Given the description of an element on the screen output the (x, y) to click on. 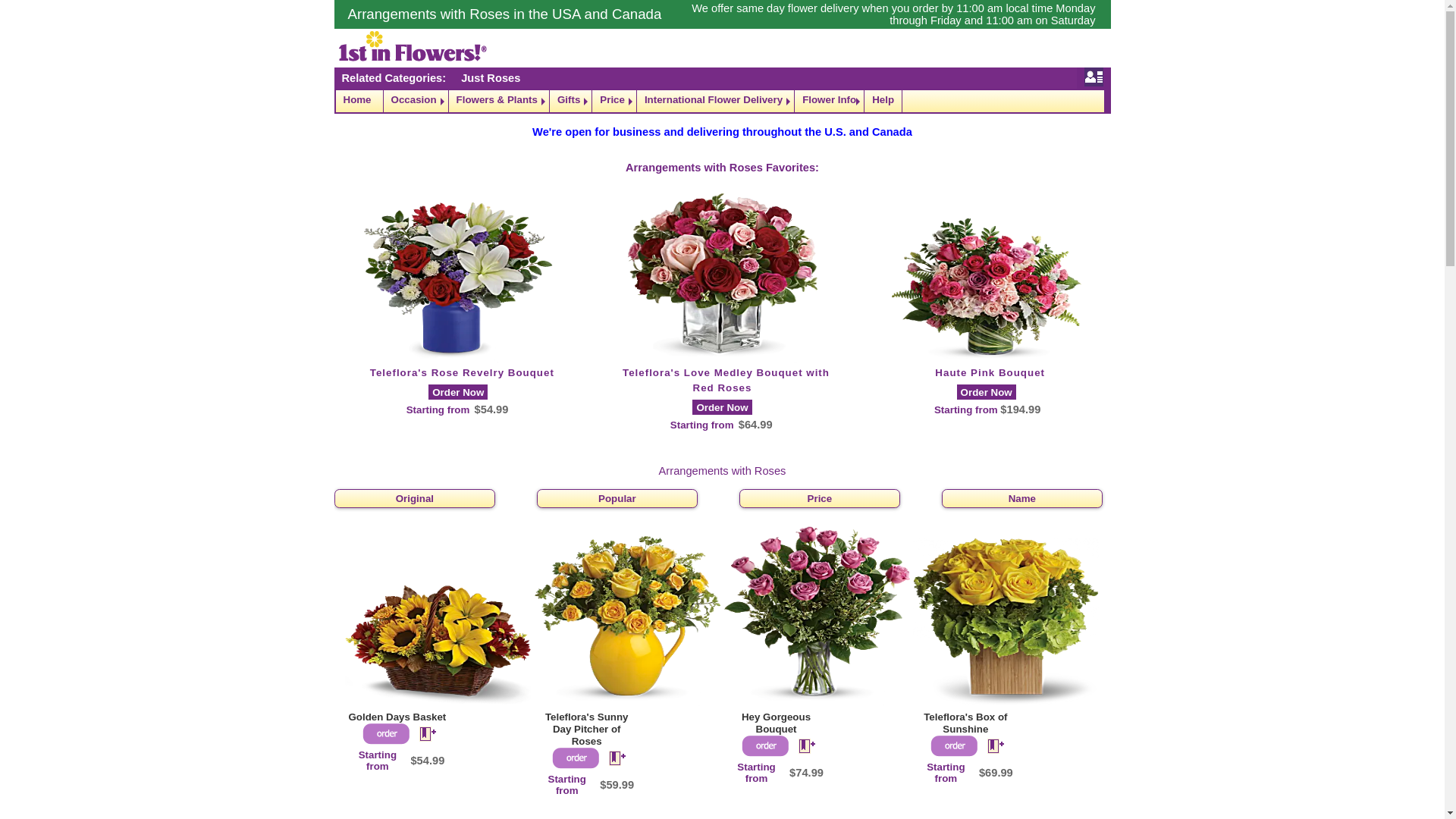
Occasion Element type: text (415, 101)
Price Element type: text (614, 101)
Original Element type: text (414, 498)
International Flower Delivery Element type: text (715, 101)
Teleflora's Box of Sunshine Element type: text (965, 722)
Just Roses Element type: text (490, 78)
Teleflora's Love Medley Bouquet with Red Roses Element type: text (725, 380)
Haute Pink Bouquet Element type: text (989, 372)
Hey Gorgeous Bouquet Element type: text (775, 722)
Help Element type: text (882, 101)
Order Now Element type: text (457, 392)
Golden Days Basket Element type: text (396, 716)
Name Element type: text (1022, 498)
Teleflora's Rose Revelry Bouquet Element type: text (462, 372)
Order Now Element type: text (721, 407)
Gifts Element type: text (570, 101)
Order Now Element type: text (986, 392)
Flower Info Element type: text (828, 101)
Popular Element type: text (617, 498)
Home Element type: text (358, 101)
Price Element type: text (819, 498)
Teleflora's Sunny Day Pitcher of Roses Element type: text (586, 728)
Flowers & Plants Element type: text (498, 101)
